Given the description of an element on the screen output the (x, y) to click on. 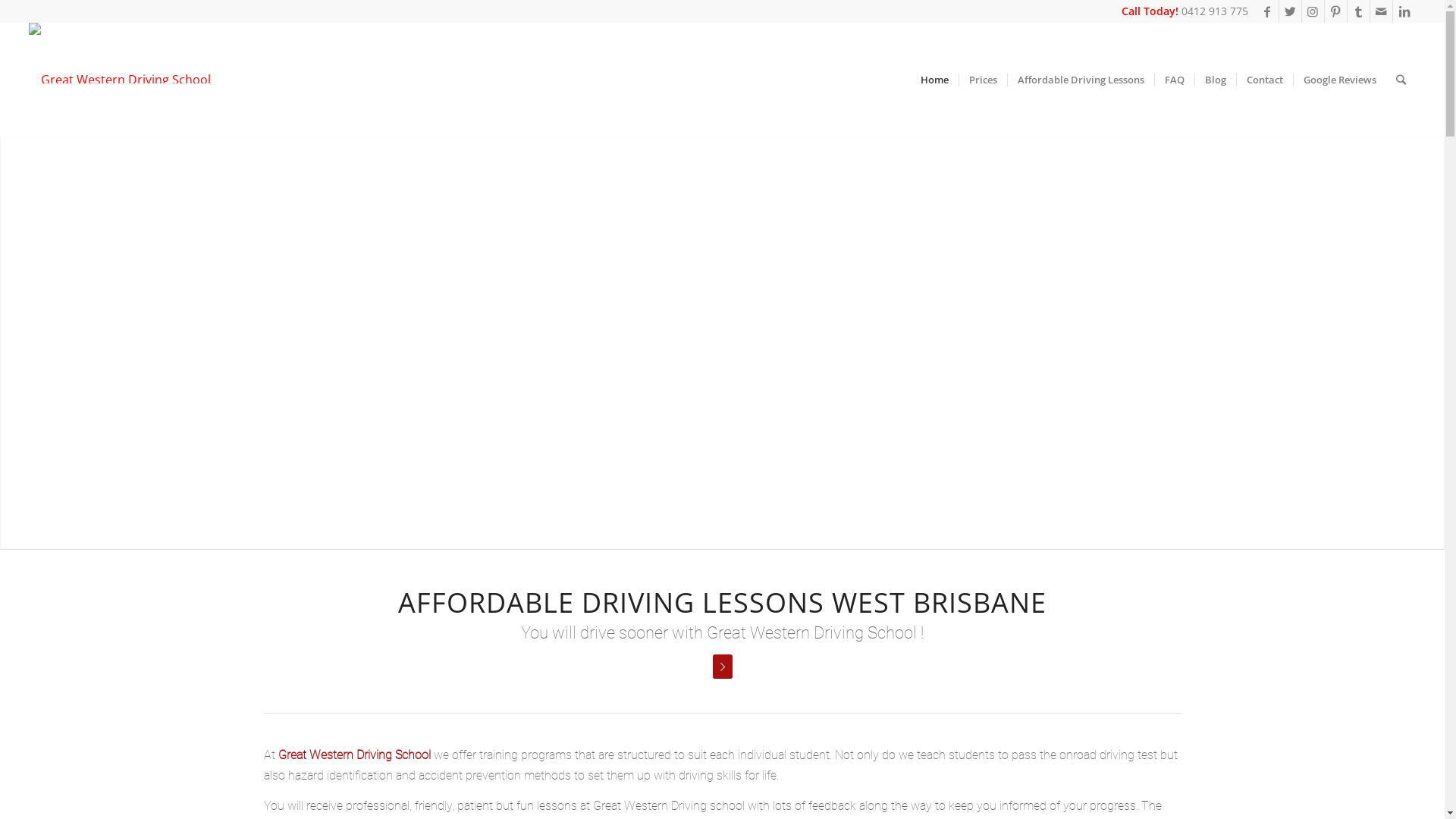
Facebook Element type: hover (1267, 11)
Blog Element type: text (1215, 79)
Home Element type: text (934, 79)
Contact Element type: text (1264, 79)
Prices Element type: text (982, 79)
FAQ Element type: text (1174, 79)
Instagram Element type: hover (1313, 11)
Mail Element type: hover (1381, 11)
LinkedIn Element type: hover (1404, 11)
Twitter Element type: hover (1290, 11)
Tumblr Element type: hover (1358, 11)
Pinterest Element type: hover (1335, 11)
Affordable Driving Lessons Element type: text (1080, 79)
Google Reviews Element type: text (1339, 79)
